Given the description of an element on the screen output the (x, y) to click on. 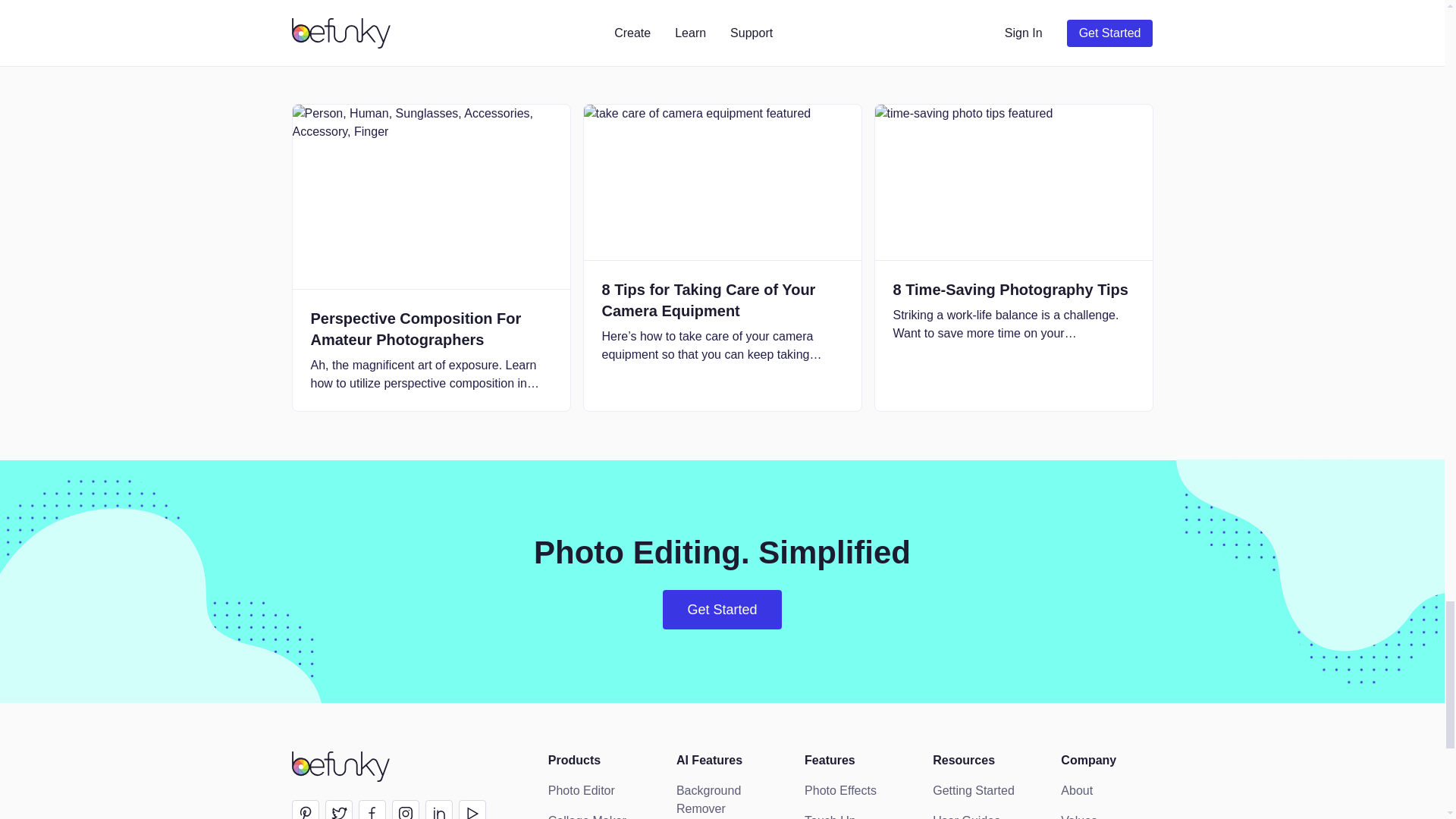
BeFunky on Facebook (371, 809)
BeFunky on Pinterest (304, 809)
BeFunky on LinkedIn (438, 809)
BeFunky on YouTube (471, 809)
BeFunky on Instagram (405, 809)
BeFunky on Twitter (338, 809)
